Given the description of an element on the screen output the (x, y) to click on. 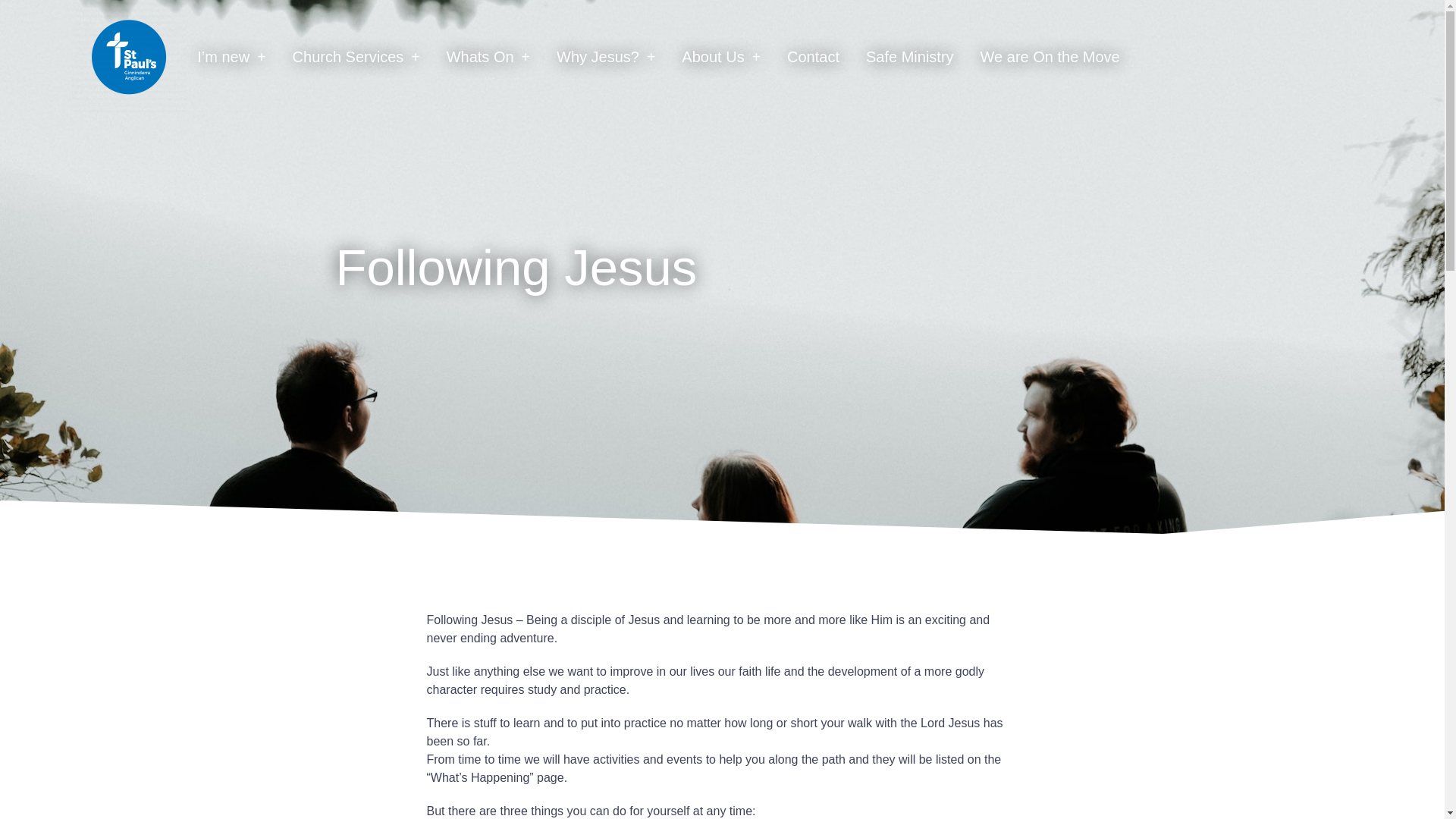
Safe Ministry (909, 56)
Why Jesus? (605, 56)
Contact (813, 56)
We are On the Move (1050, 56)
Whats On (488, 56)
Church Services (355, 56)
About Us (720, 56)
